Given the description of an element on the screen output the (x, y) to click on. 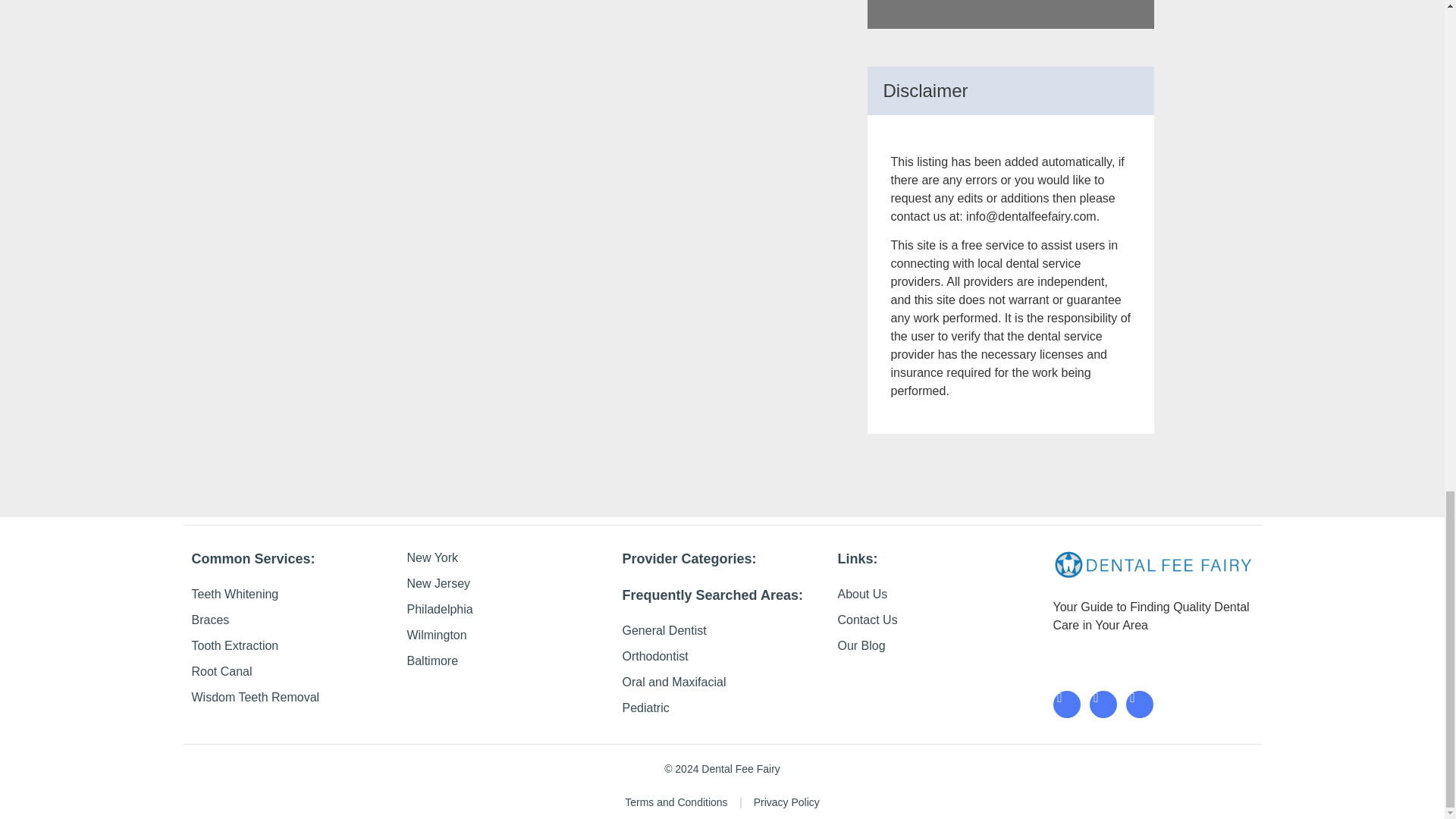
Teeth Whitening (290, 594)
Wisdom Teeth Removal (290, 697)
Pediatric (721, 708)
Contact Us (936, 619)
Tooth Extraction (290, 646)
Braces (290, 619)
Our Blog (936, 646)
General Dentist (721, 630)
Philadelphia (506, 609)
Oral and Maxifacial (721, 682)
New York (506, 557)
New Jersey (506, 583)
Baltimore (506, 660)
Orthodontist (721, 656)
About Us (936, 594)
